Given the description of an element on the screen output the (x, y) to click on. 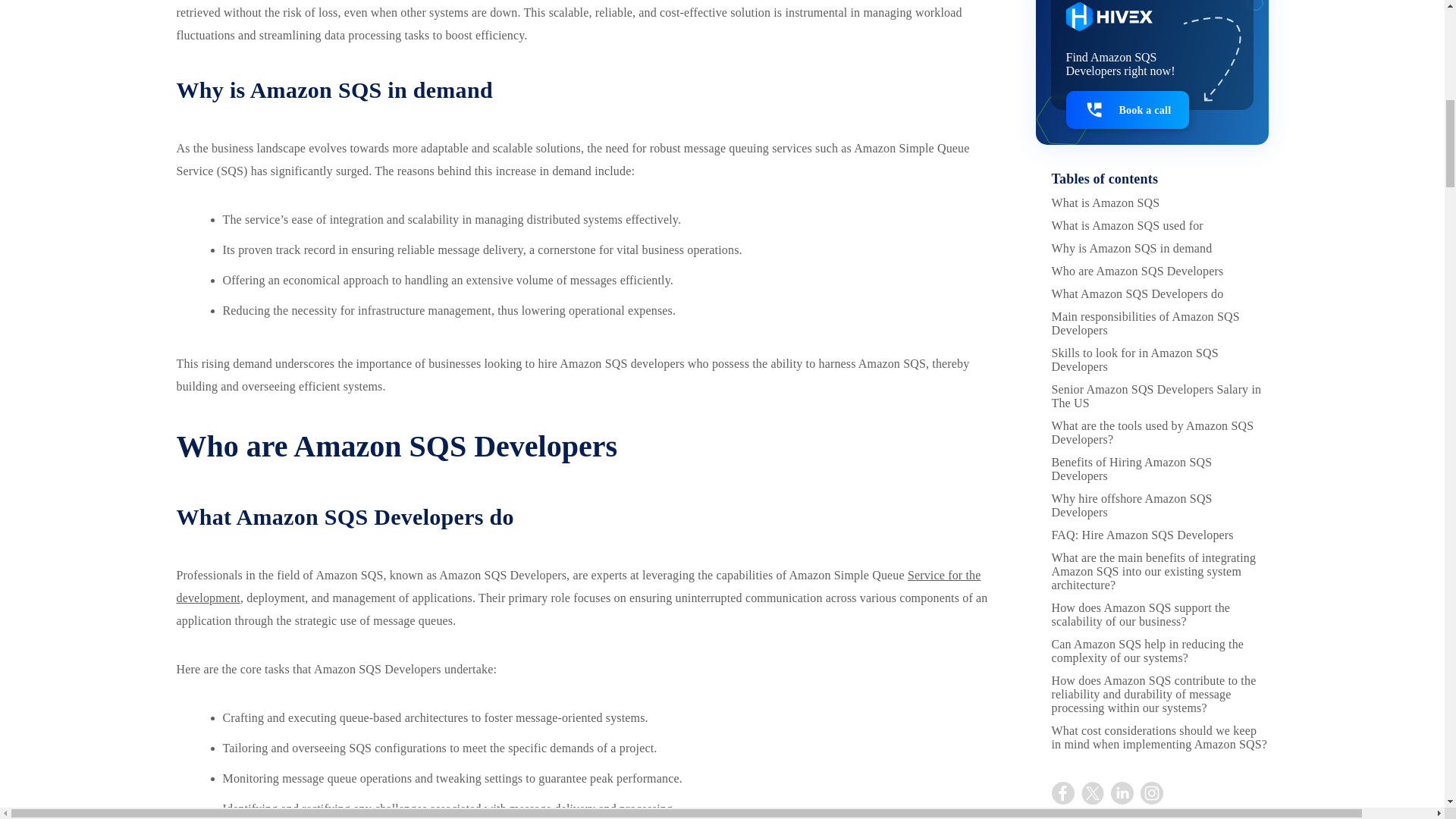
Why is Amazon SQS in demand (1131, 84)
What is Amazon SQS (1104, 39)
What Amazon SQS Developers do (1137, 130)
Senior Amazon SQS Developers Salary in The US (1155, 233)
What is Amazon SQS used for (1126, 62)
How does Amazon SQS support the scalability of our business? (1140, 451)
What are the tools used by Amazon SQS Developers? (1152, 269)
